Given the description of an element on the screen output the (x, y) to click on. 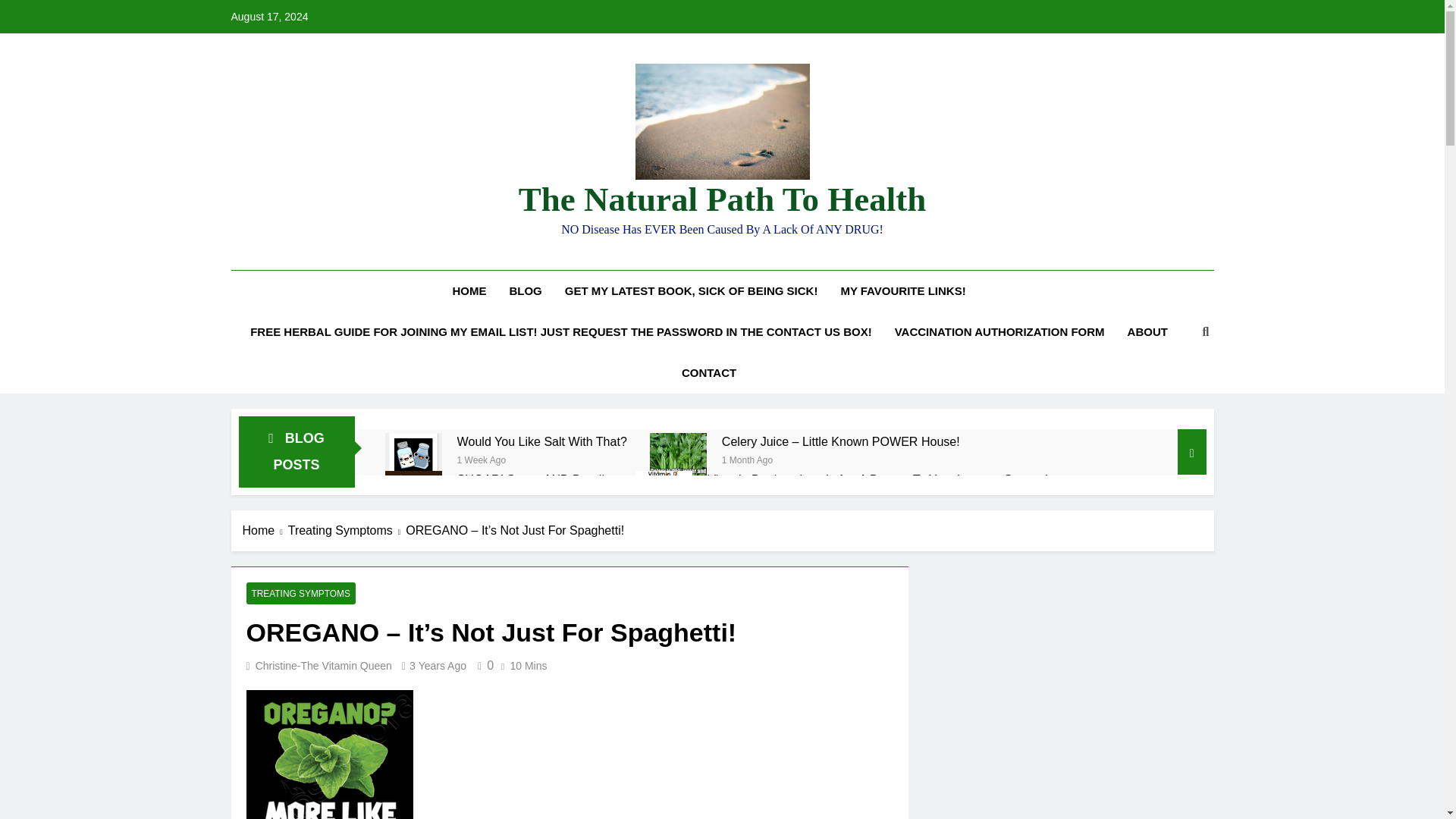
ABOUT (1147, 332)
MY FAVOURITE LINKS! (902, 291)
BLOG (525, 291)
SUGAR!  Sweet AND Deadly. (413, 498)
1 Week Ago (481, 459)
HOME (469, 291)
The Natural Path To Health (722, 199)
SUGAR!  Sweet AND Deadly. (534, 479)
Would You Like Salt With That? (542, 441)
SUGAR! Sweet AND Deadly. (534, 479)
